Given the description of an element on the screen output the (x, y) to click on. 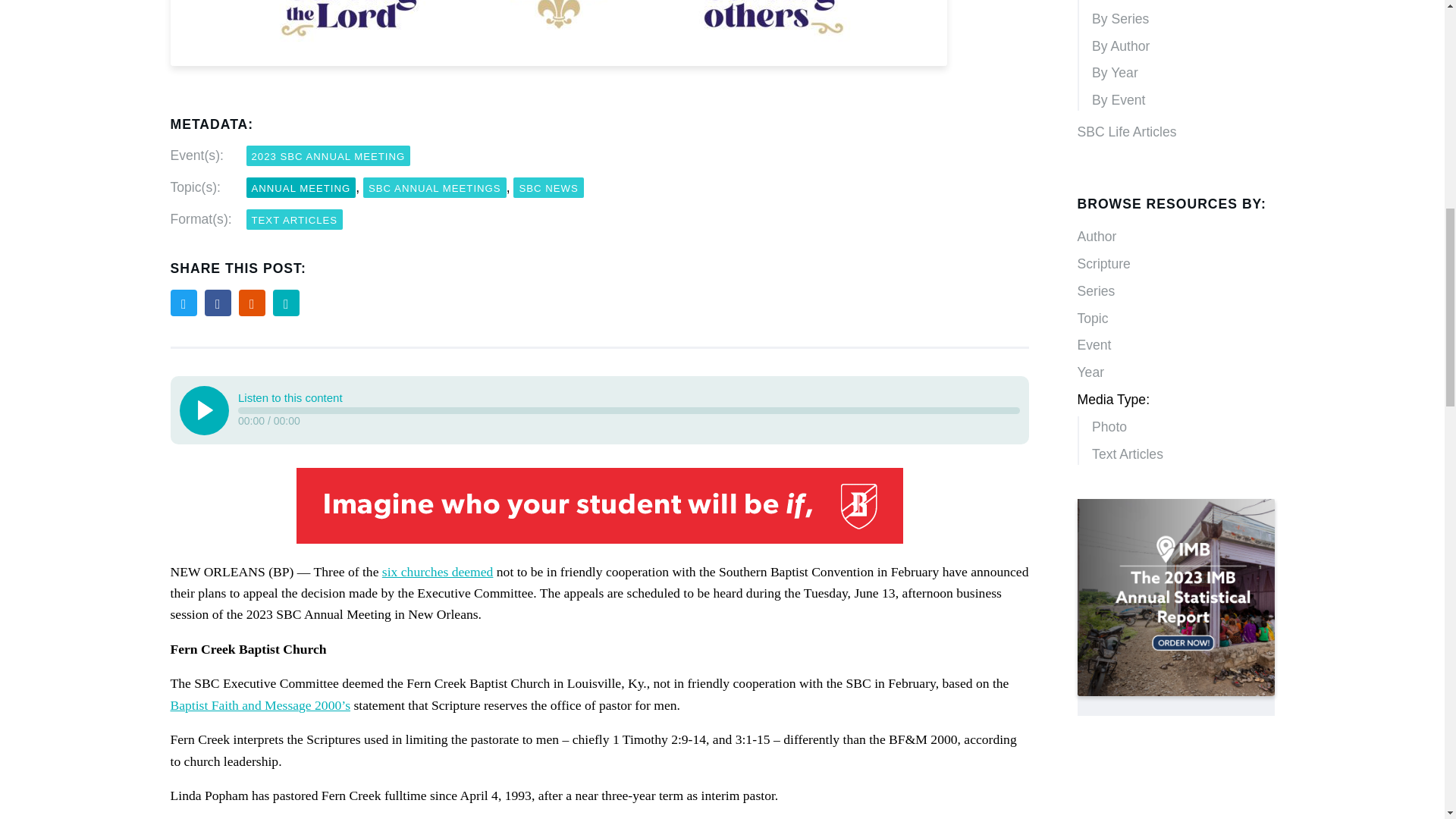
ANNUAL MEETING (300, 187)
SBC NEWS (548, 187)
2023 SBC ANNUAL MEETING (328, 155)
TEXT ARTICLES (294, 219)
SBC ANNUAL MEETINGS (434, 187)
